Given the description of an element on the screen output the (x, y) to click on. 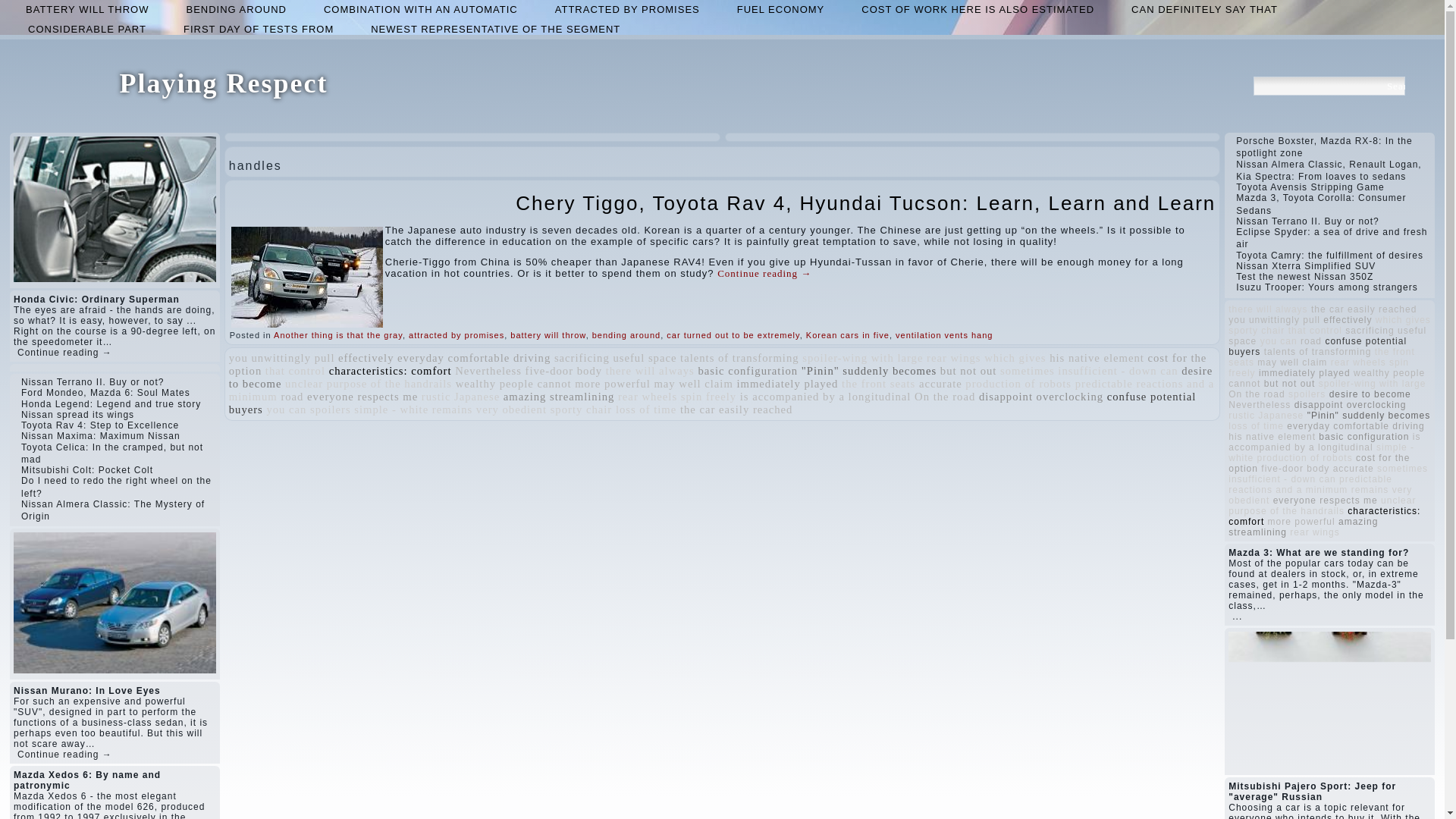
Search (1396, 85)
cost of work here is also estimated (977, 9)
FUEL ECONOMY (780, 9)
Ford Mondeo, Mazda 6: Soul Mates (105, 392)
NEWEST REPRESENTATIVE OF THE SEGMENT (495, 29)
combination with an automatic (420, 9)
effectively (365, 357)
Do I need to redo the right wheel on the left? (116, 486)
Nissan Almera Classic: The Mystery of Origin (113, 509)
